Given the description of an element on the screen output the (x, y) to click on. 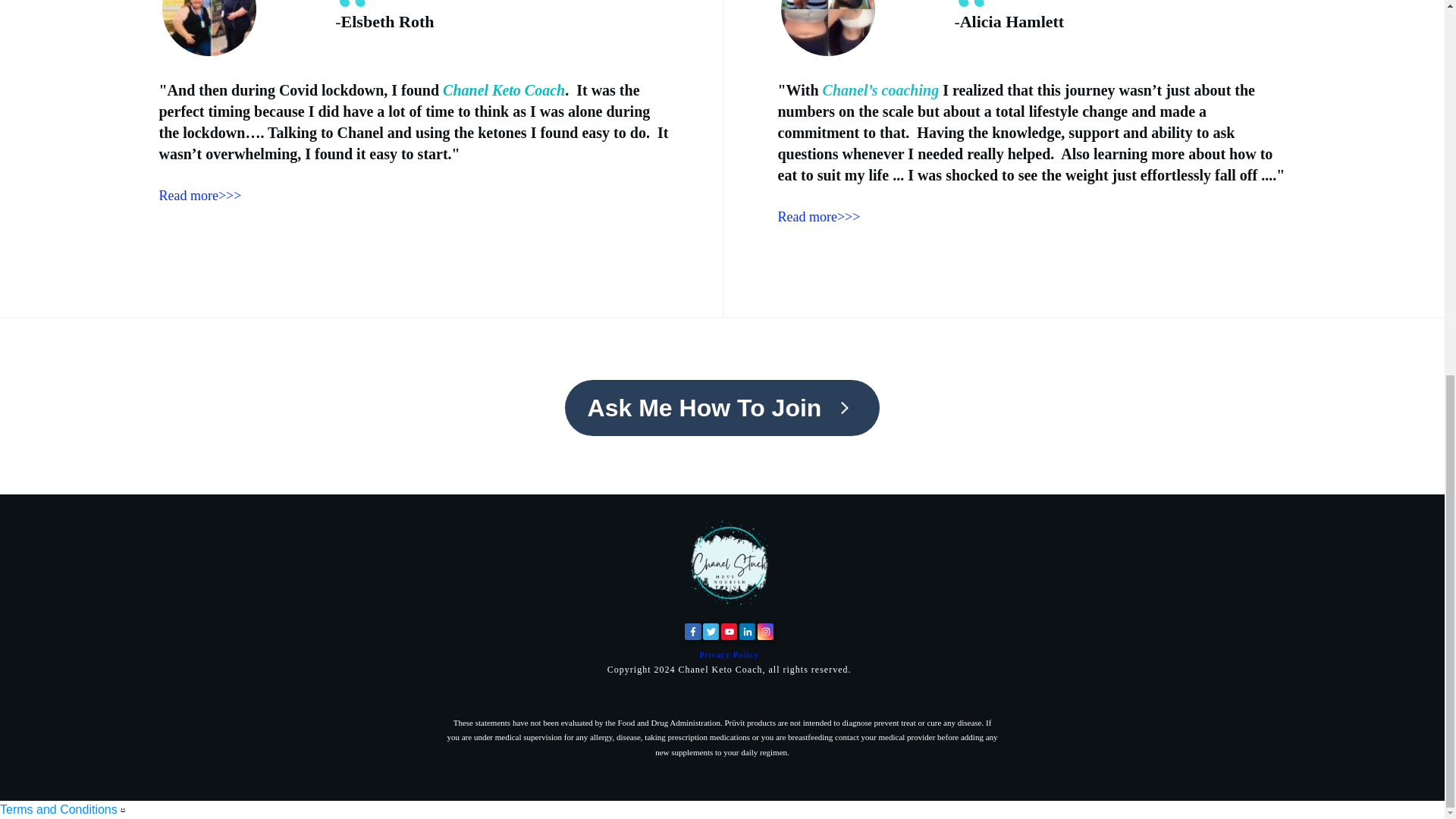
Ask Me How To Join (722, 407)
Elsbeth (208, 28)
Alicia (827, 28)
Privacy Policy (728, 654)
Terms and Conditions (58, 809)
